Given the description of an element on the screen output the (x, y) to click on. 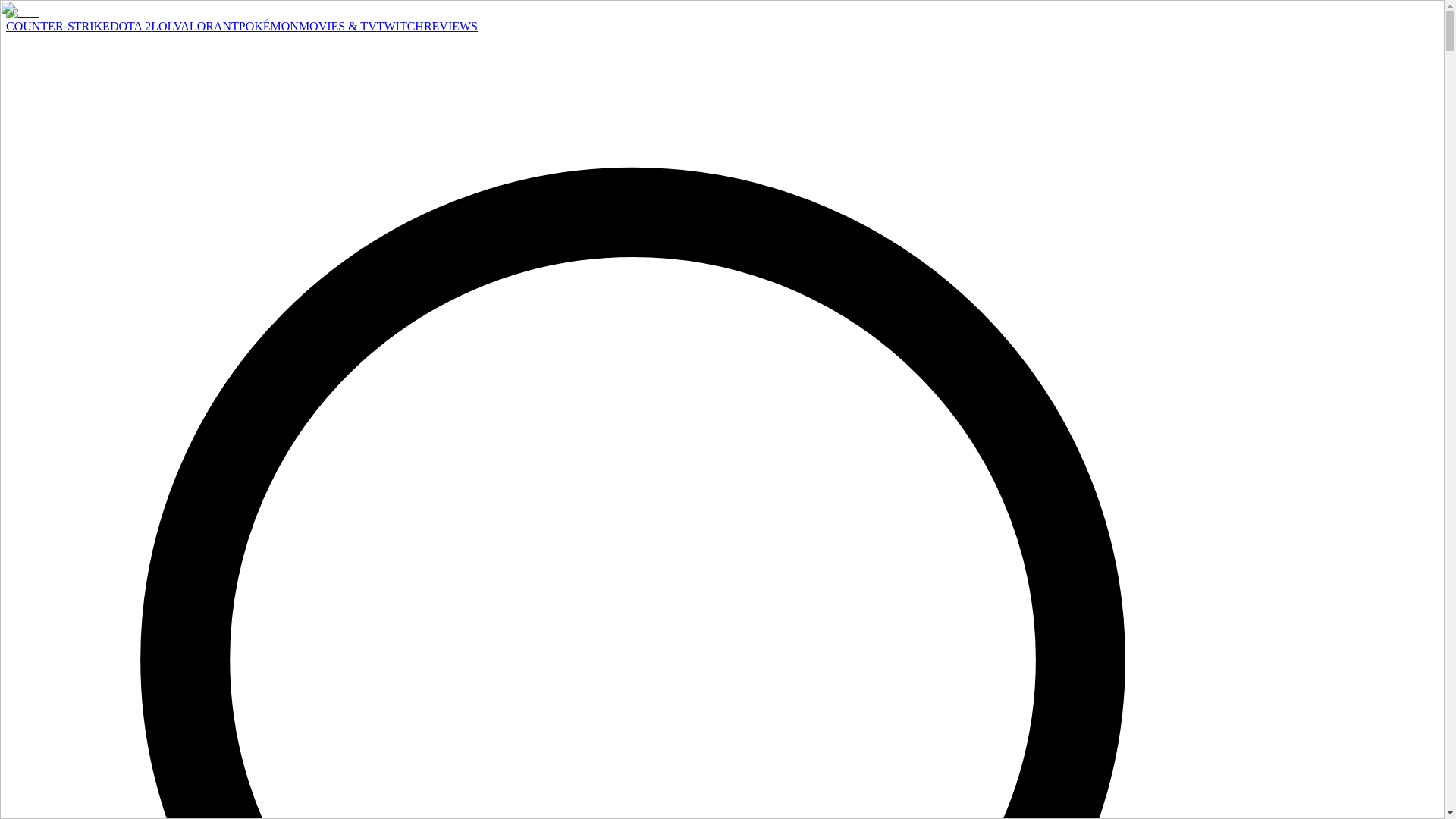
LOL (162, 25)
VALORANT (205, 25)
REVIEWS (450, 25)
DOTA 2 (130, 25)
COUNTER-STRIKE (57, 25)
TWITCH (400, 25)
